Given the description of an element on the screen output the (x, y) to click on. 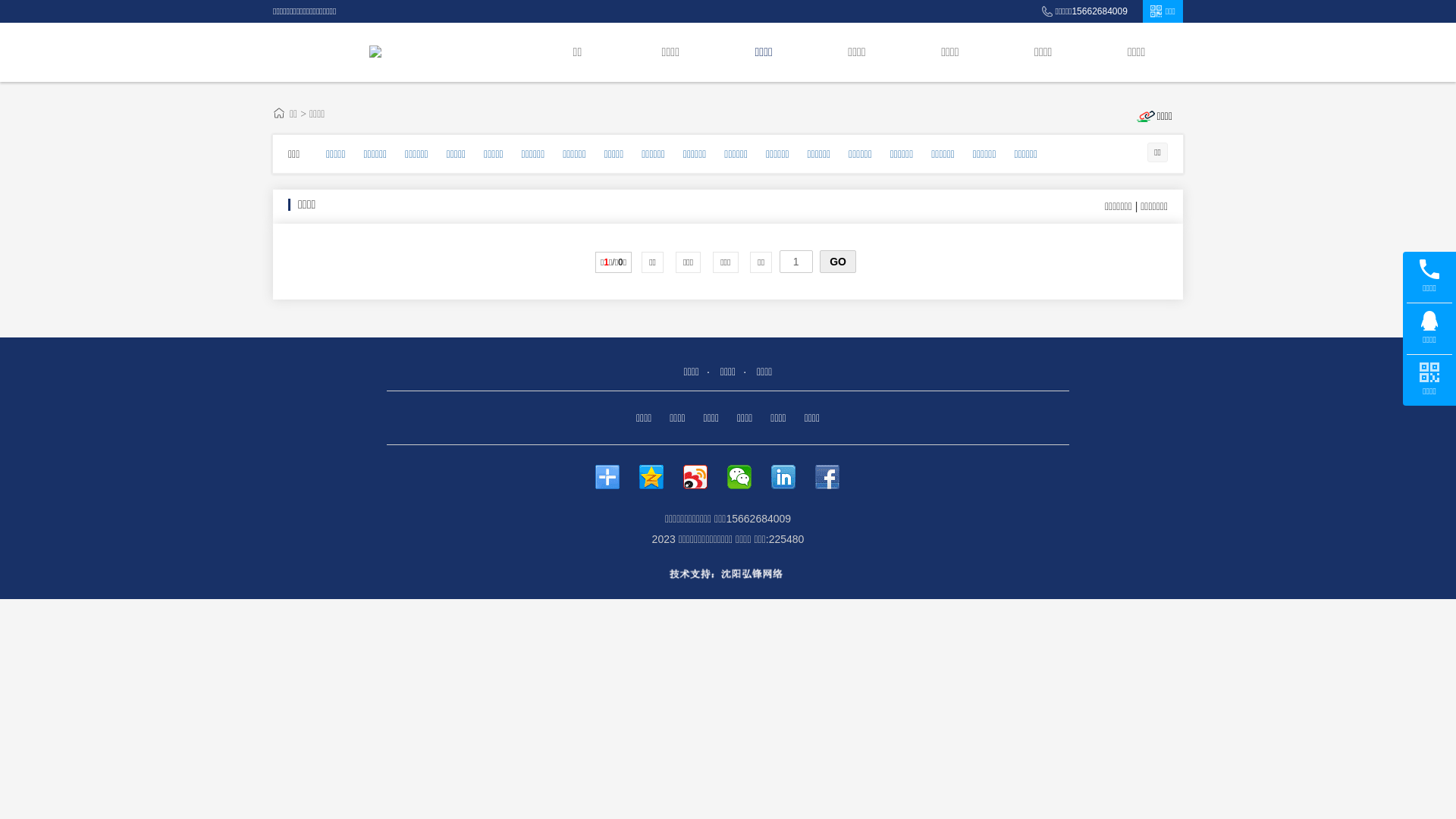
GO Element type: text (837, 261)
